Given the description of an element on the screen output the (x, y) to click on. 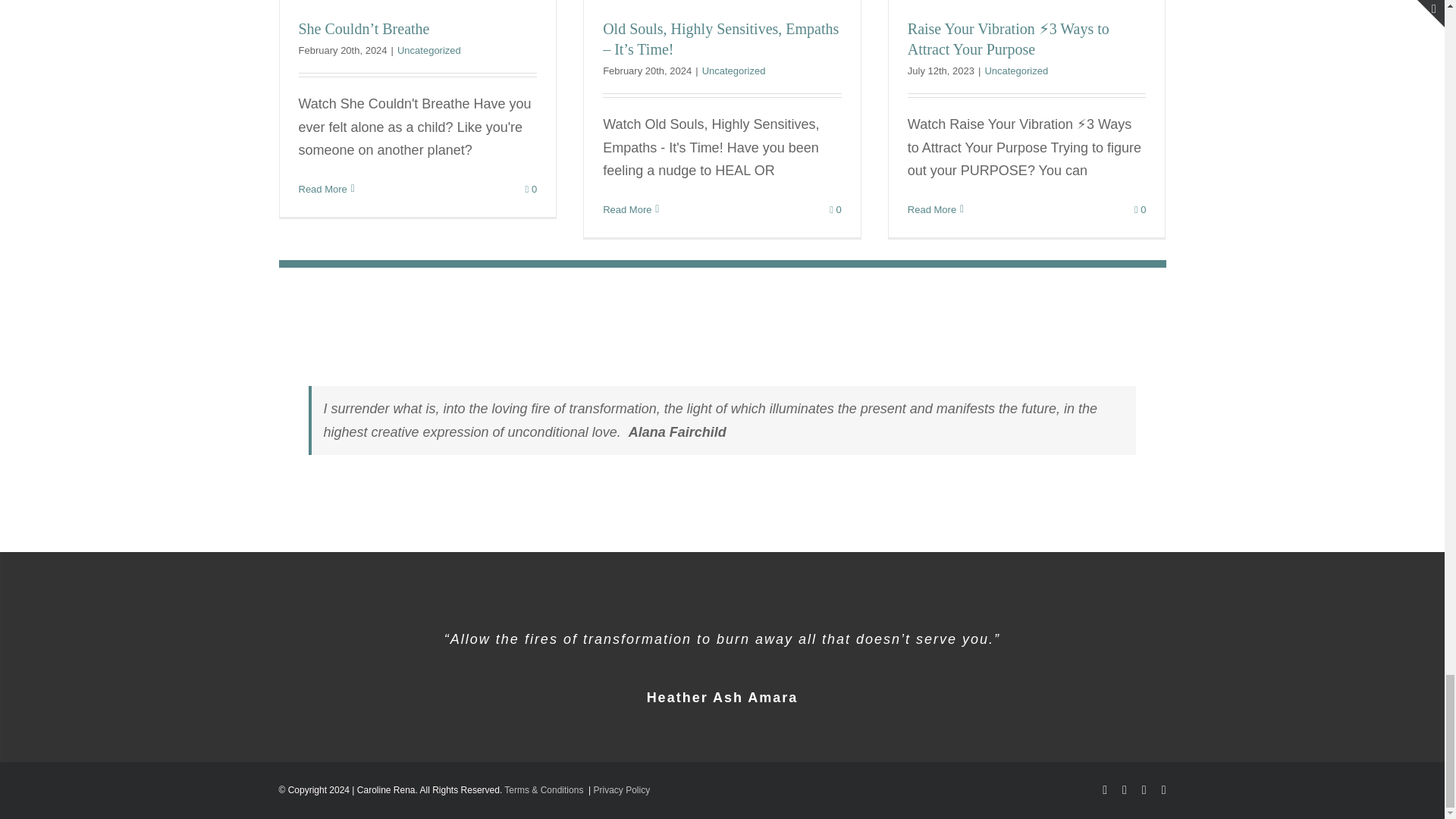
Uncategorized (429, 50)
Uncategorized (733, 70)
Read More (322, 188)
 0 (531, 188)
